Given the description of an element on the screen output the (x, y) to click on. 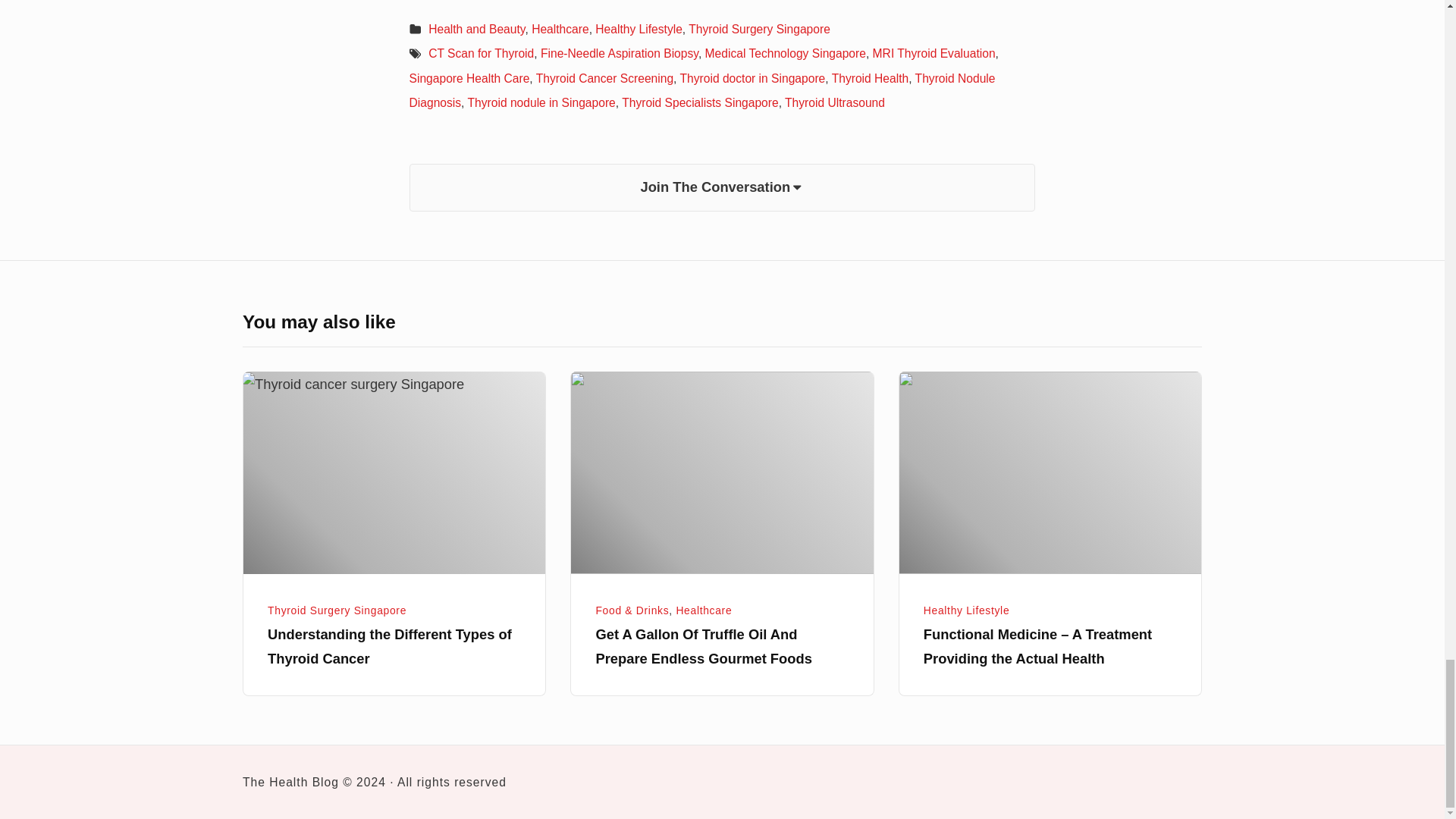
Healthy Lifestyle (638, 29)
Thyroid Ultrasound (834, 102)
Join The Conversation (722, 187)
Medical Technology Singapore (785, 52)
CT Scan for Thyroid (481, 52)
Thyroid Surgery Singapore (758, 29)
MRI Thyroid Evaluation (933, 52)
Thyroid Nodule Diagnosis (702, 90)
Thyroid nodule in Singapore (541, 102)
Thyroid Health (869, 78)
